Given the description of an element on the screen output the (x, y) to click on. 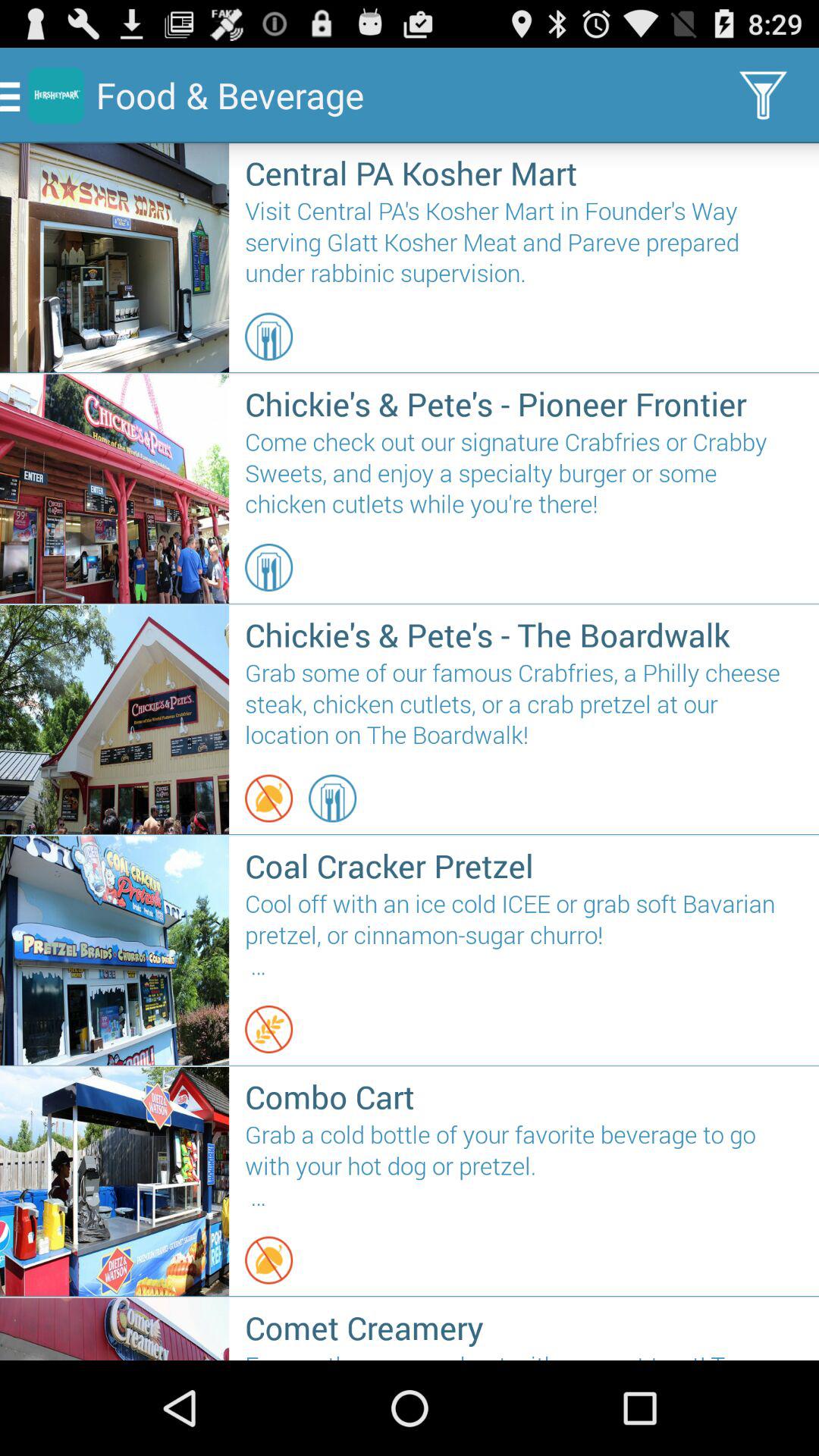
turn on icon above the central pa kosher (763, 95)
